Given the description of an element on the screen output the (x, y) to click on. 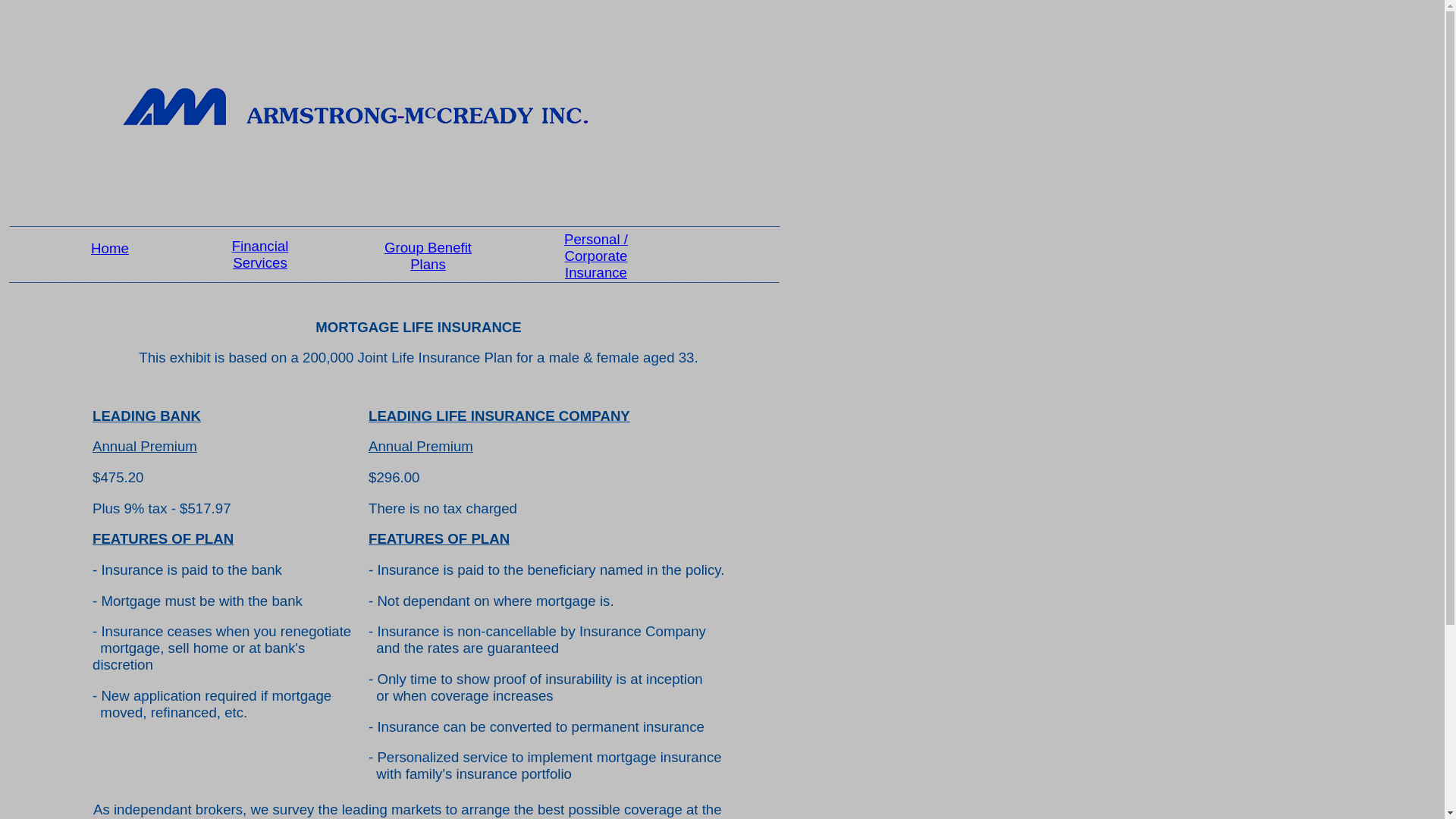
Home Element type: text (109, 248)
Group Benefit Plans Element type: text (427, 255)
Financial Services Element type: text (260, 254)
Personal / Corporate Insurance Element type: text (595, 255)
